Given the description of an element on the screen output the (x, y) to click on. 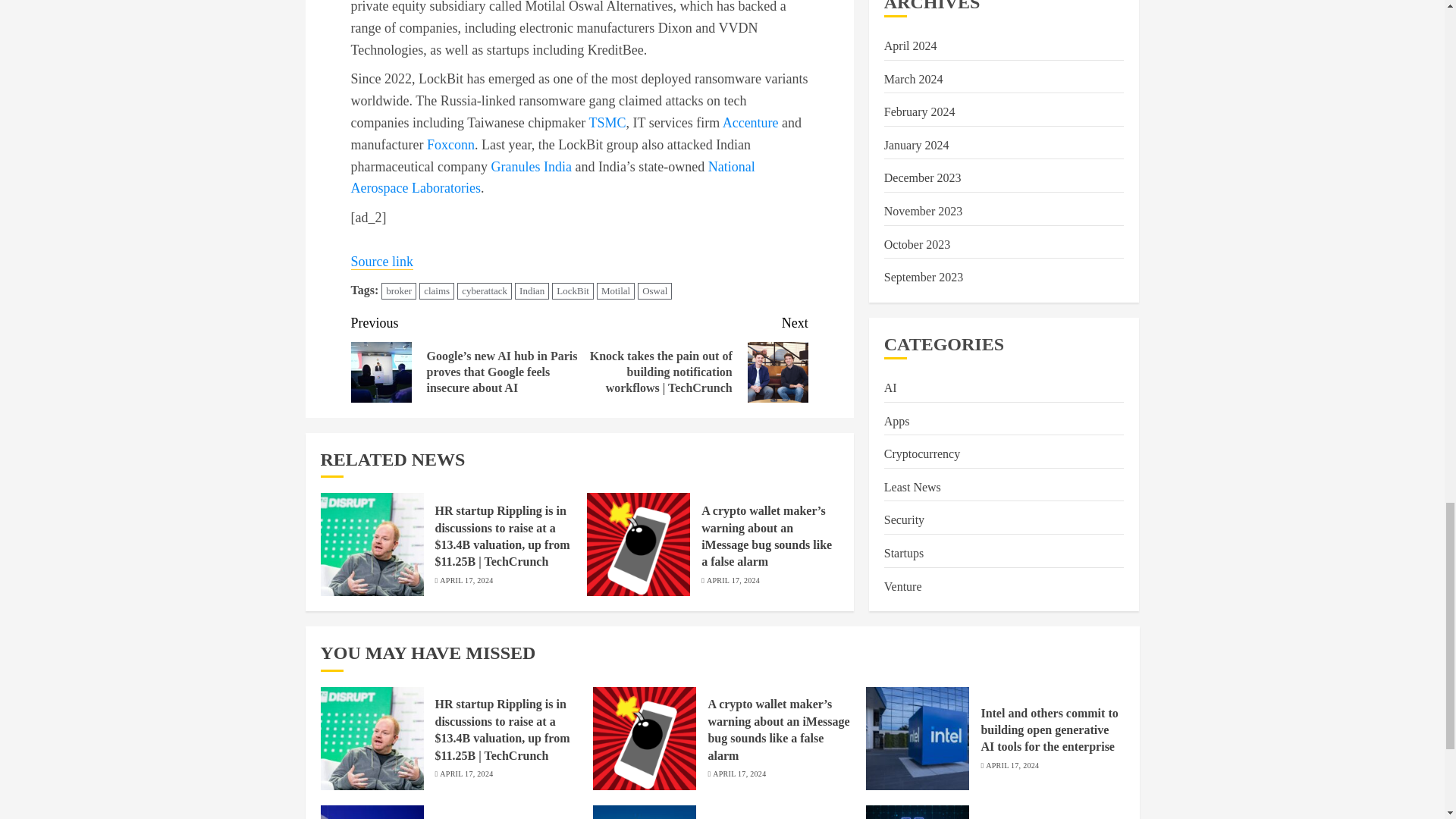
cyberattack (484, 291)
TSMC (607, 122)
claims (436, 291)
Source link (381, 261)
Granules India (530, 166)
Indian (531, 291)
Accenture (750, 122)
Foxconn (450, 144)
broker (398, 291)
National Aerospace Laboratories (552, 177)
